Given the description of an element on the screen output the (x, y) to click on. 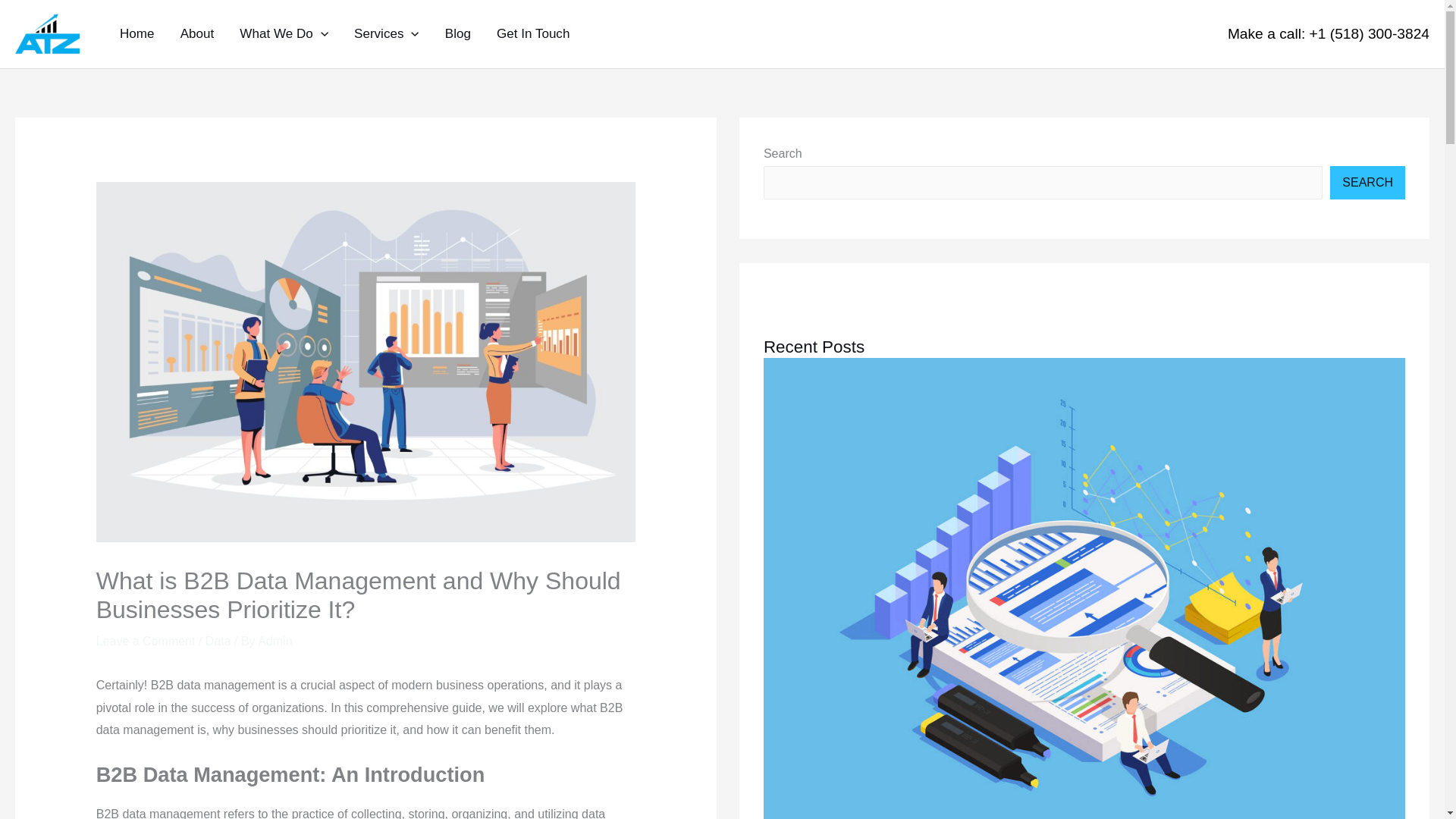
About (197, 33)
Home (136, 33)
View all posts by Admin (274, 640)
Services (386, 33)
Blog (457, 33)
What We Do (283, 33)
Get In Touch (532, 33)
